Given the description of an element on the screen output the (x, y) to click on. 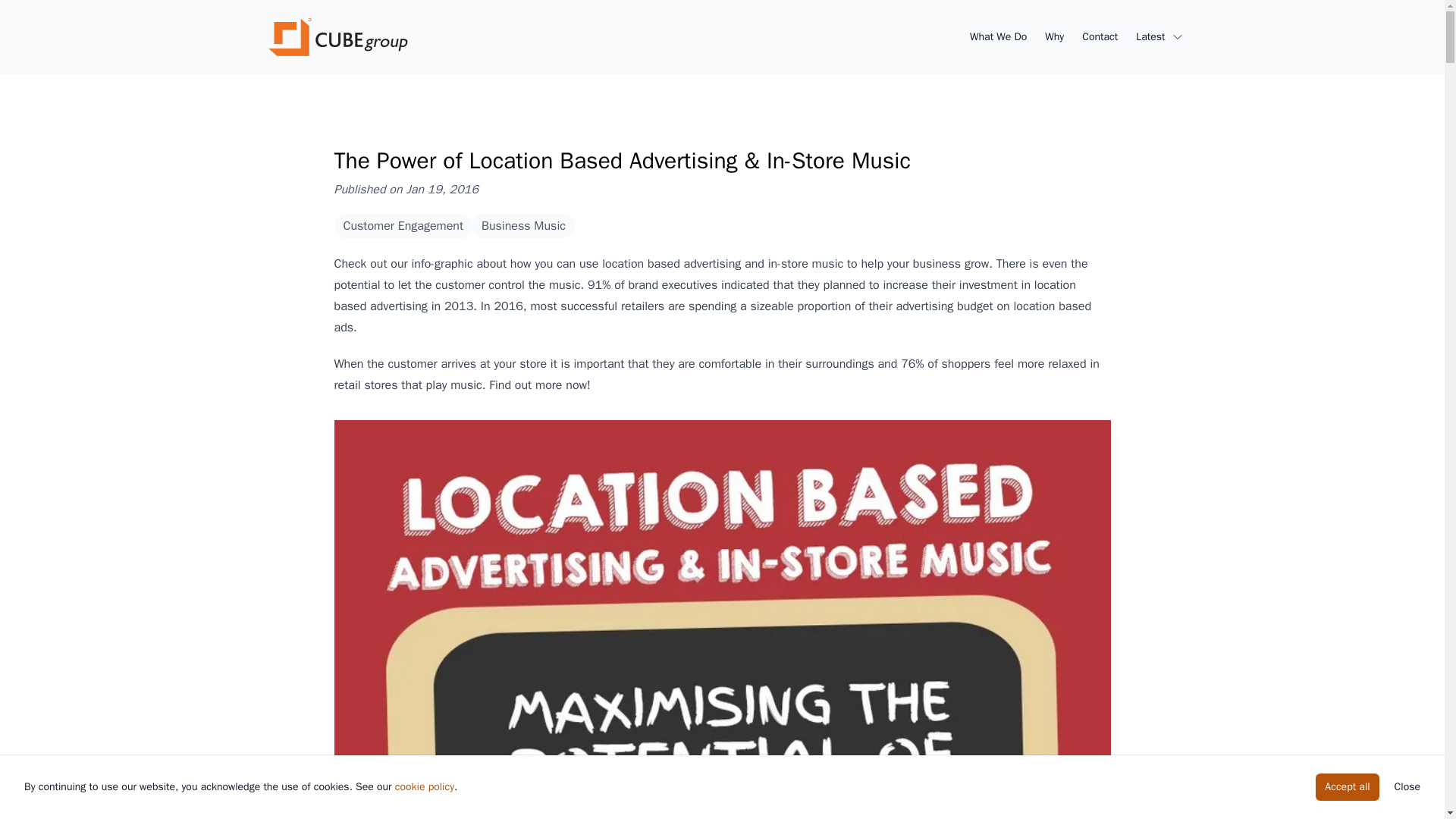
Customer Engagement (402, 225)
Business Music (523, 225)
CUBEgroup.global Home Page (336, 37)
cookie policy (424, 786)
Accept all (1347, 786)
Why (1054, 36)
Contact (1099, 36)
Close (1407, 787)
What We Do (997, 36)
